Given the description of an element on the screen output the (x, y) to click on. 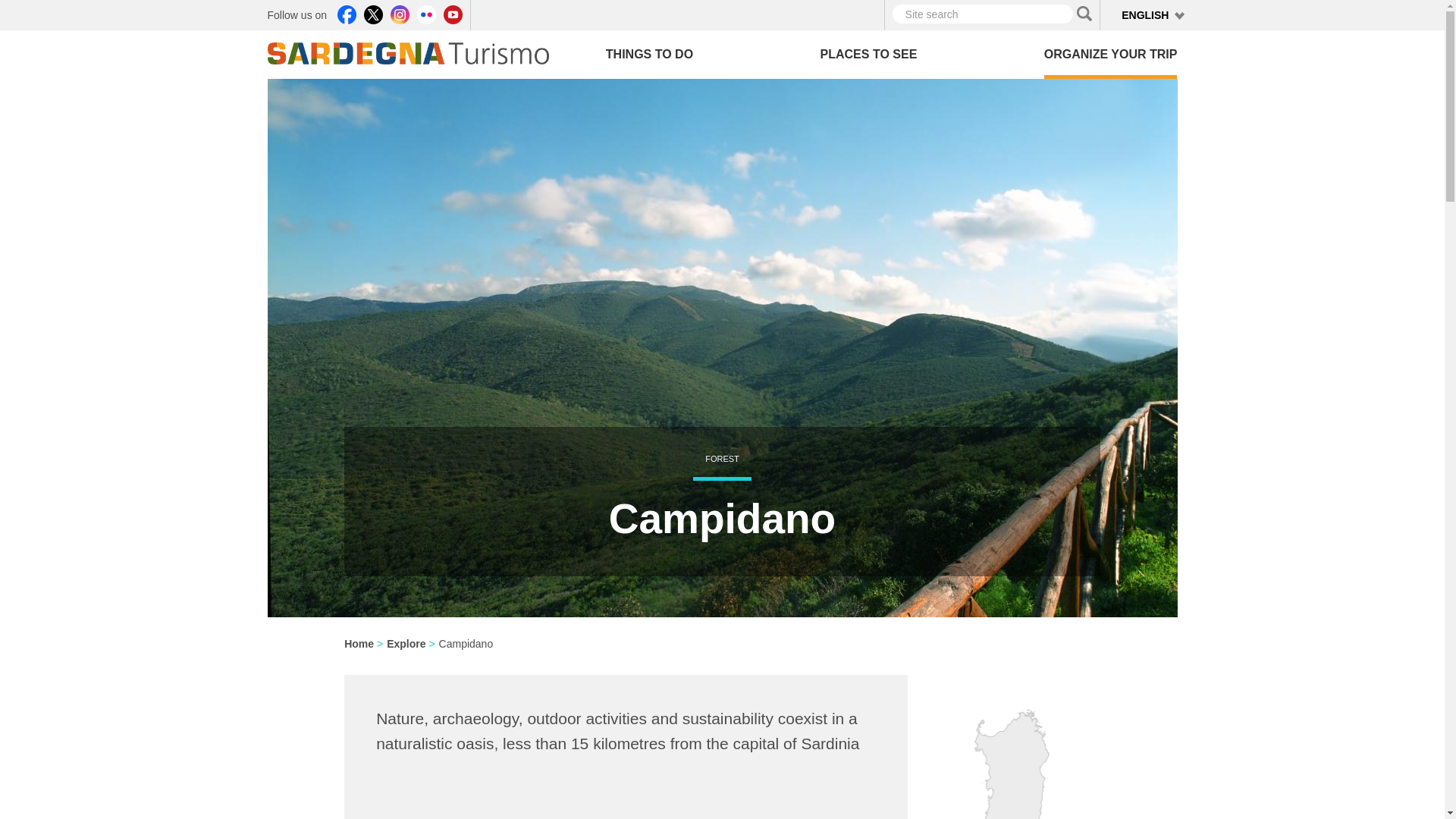
Facebook (346, 14)
Home (413, 47)
ORGANIZE YOUR TRIP (1110, 54)
Instagram (399, 14)
THINGS TO DO (649, 54)
ENGLISH (1145, 15)
Home (407, 53)
PLACES TO SEE (869, 54)
Applica (1084, 13)
Twitter (373, 14)
